Given the description of an element on the screen output the (x, y) to click on. 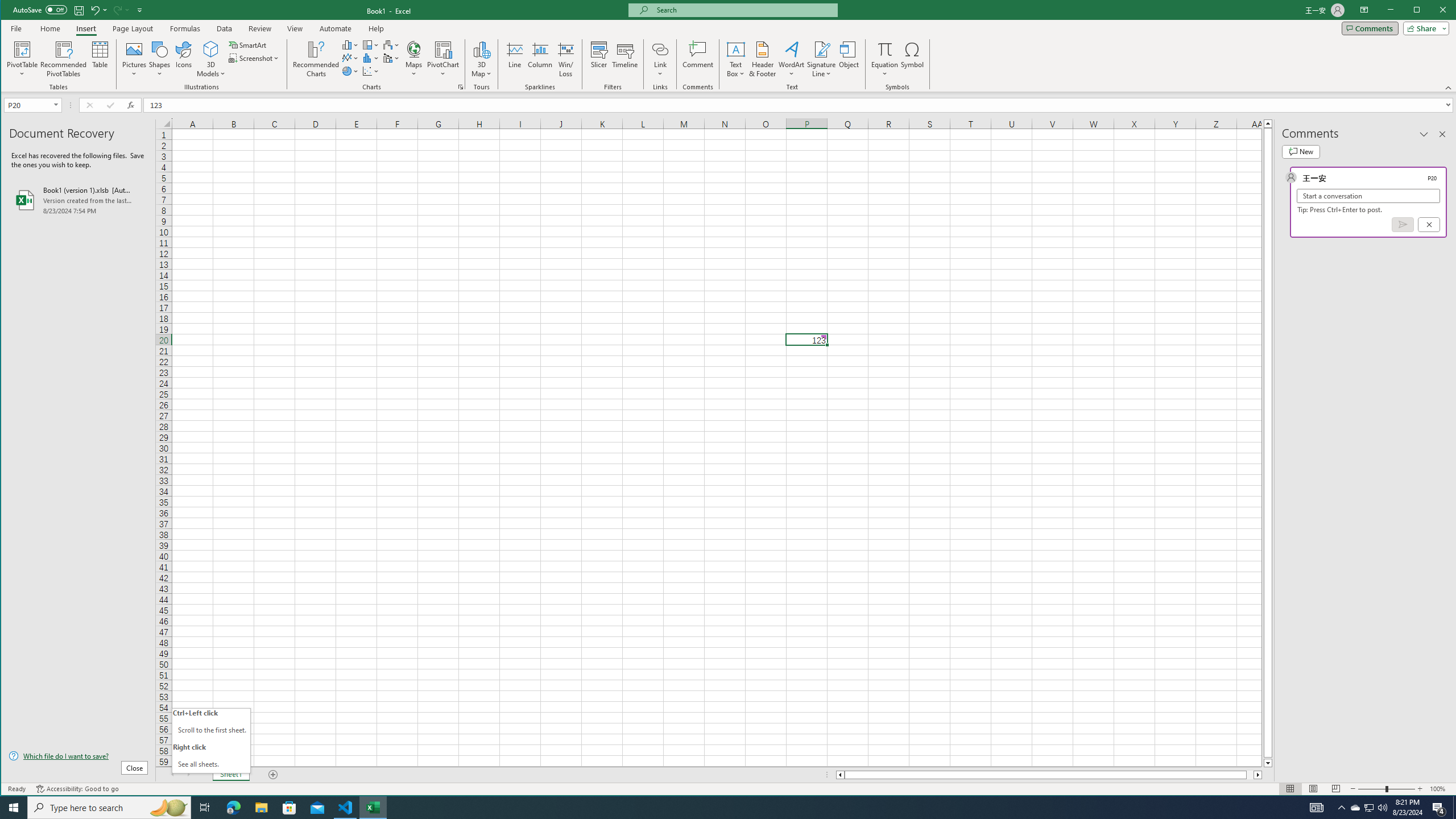
Zoom Out (1372, 788)
PivotChart (443, 59)
PivotTable (22, 59)
Start (13, 807)
File Tab (16, 27)
Slicer... (598, 59)
Insert Hierarchy Chart (371, 44)
Shapes (159, 59)
Insert (85, 28)
Equation (884, 48)
Show desktop (1454, 807)
PivotTable (22, 48)
Open (56, 105)
